Given the description of an element on the screen output the (x, y) to click on. 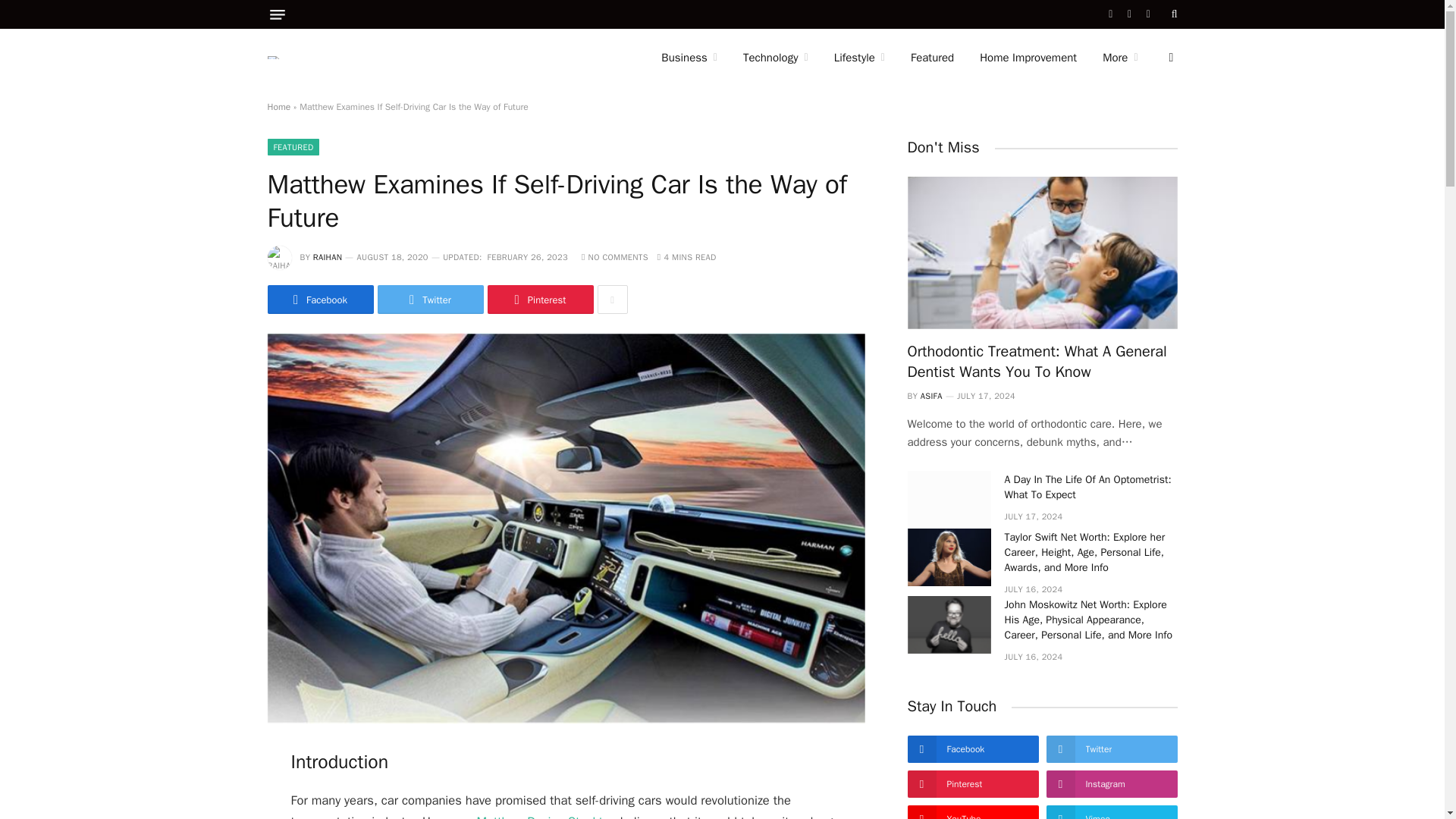
Technology (775, 57)
Posts by raihan (327, 256)
Show More Social Sharing (611, 299)
Home Improvement (1027, 57)
Share on Facebook (319, 299)
Featured (932, 57)
Share on Pinterest (539, 299)
Business (688, 57)
Switch to Dark Design - easier on eyes. (1169, 57)
Lifestyle (859, 57)
More (1119, 57)
